Given the description of an element on the screen output the (x, y) to click on. 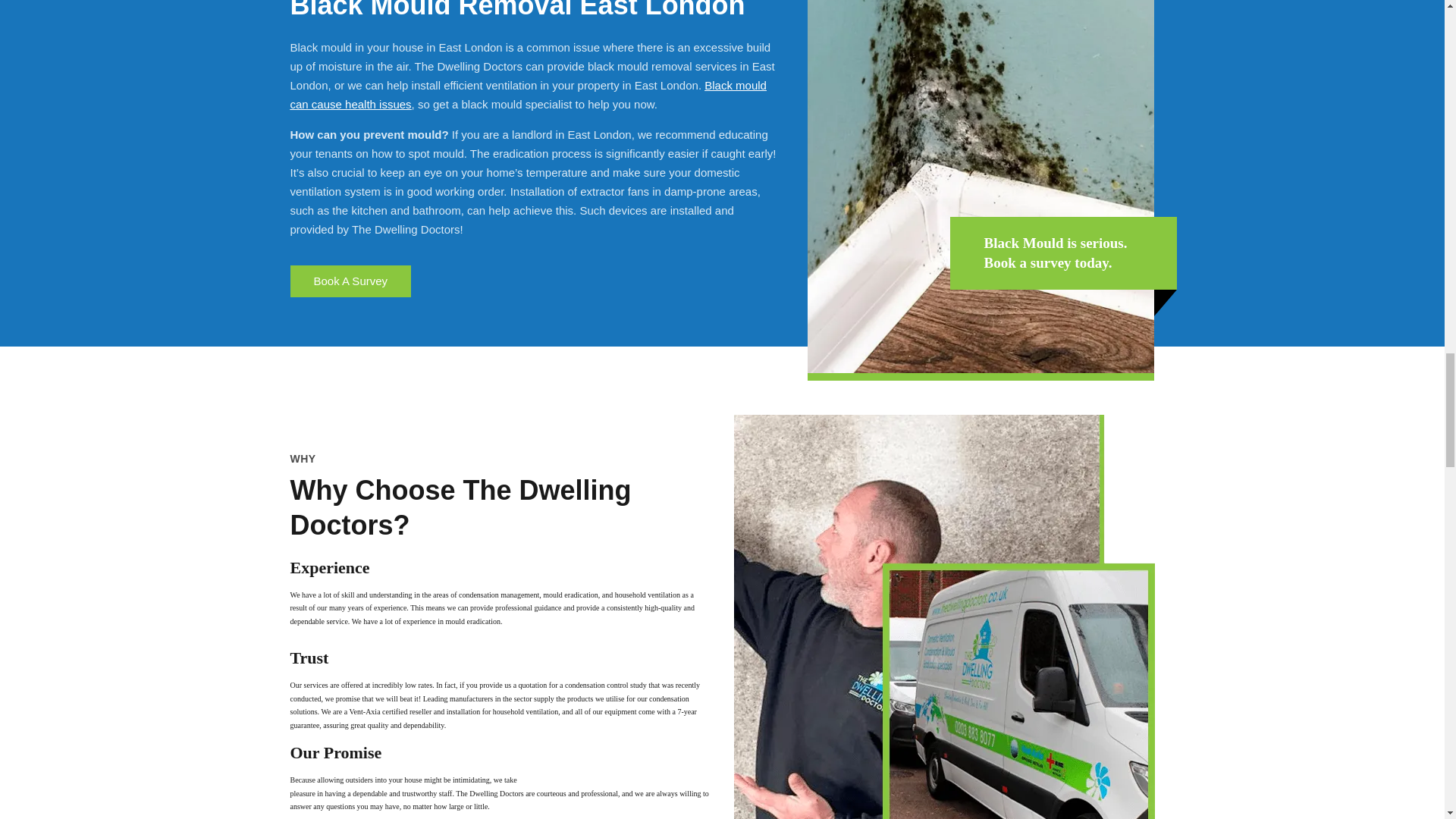
Book A Survey (349, 281)
Black mould can cause health issues (527, 94)
black-mould (981, 186)
